Given the description of an element on the screen output the (x, y) to click on. 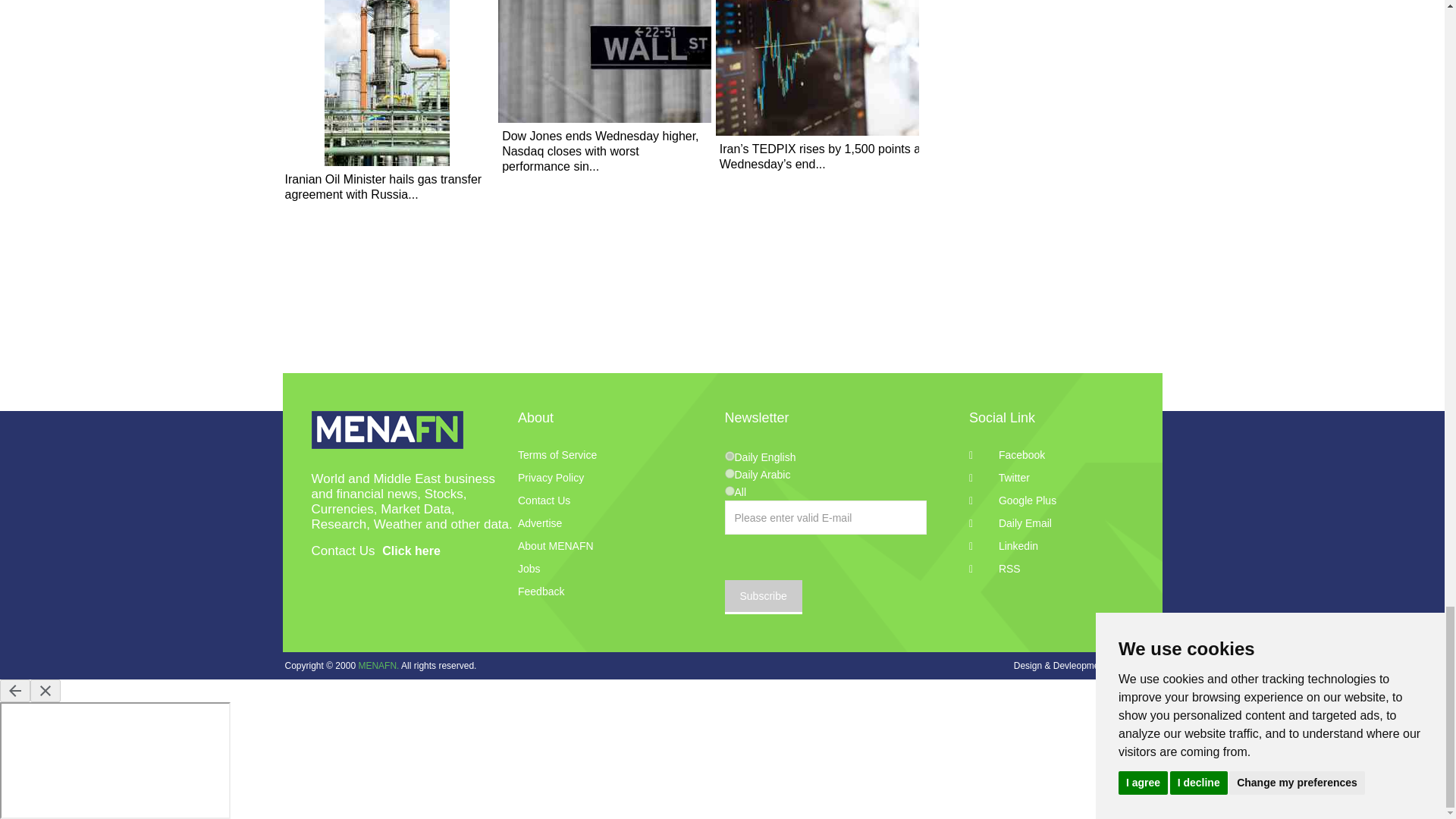
Subscribe (763, 596)
Advertisement (721, 335)
